Given the description of an element on the screen output the (x, y) to click on. 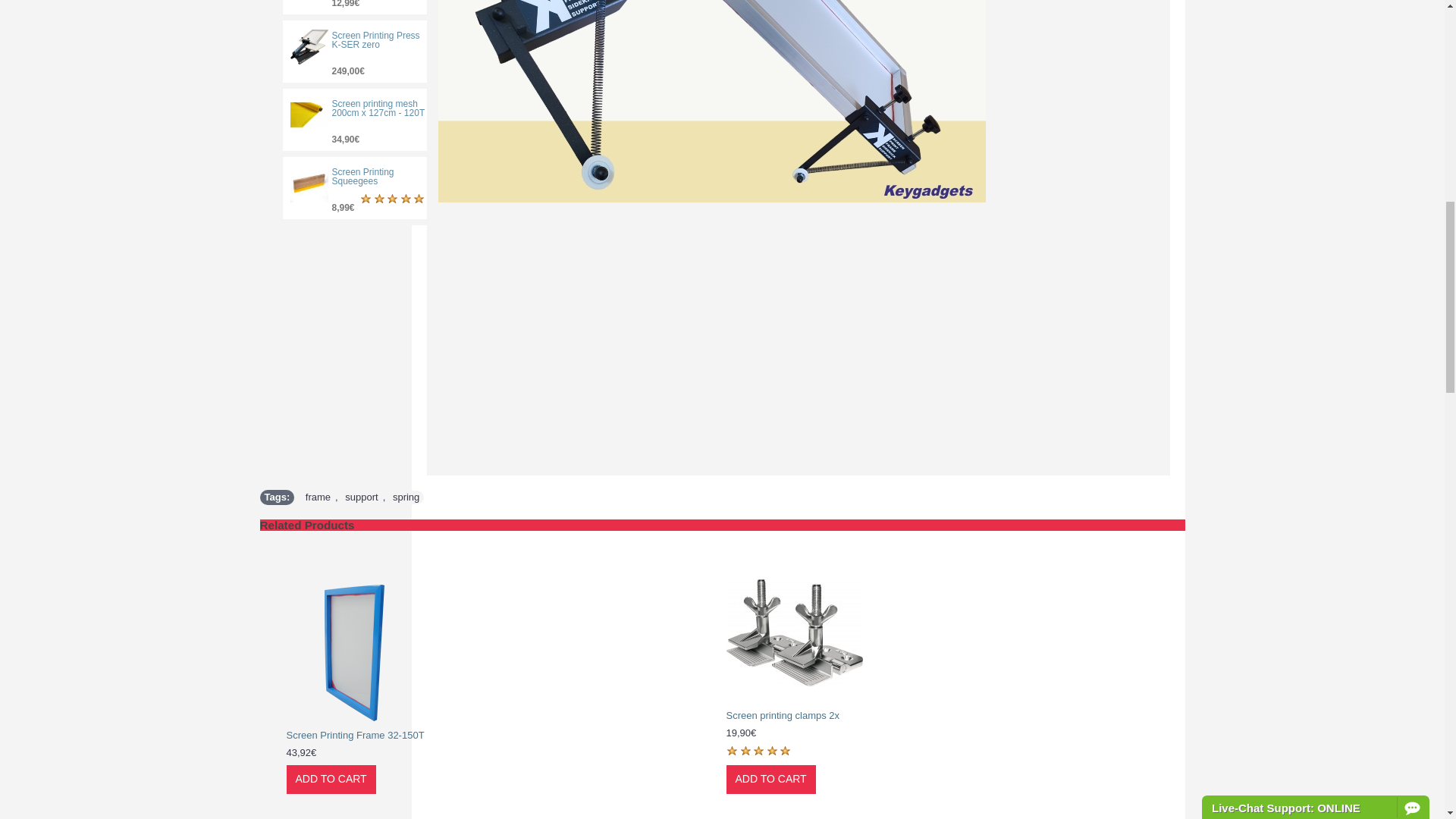
Screen Printing Press K-SER zero (308, 46)
Screen printing mesh 200cm x 127cm - 120T (308, 115)
Screen Printing Squeegees (308, 183)
Screen printing mesh 200cm x 127cm - 120T (358, 108)
Screen Printing Press K-SER zero (358, 40)
Screen Printing Squeegees (358, 176)
